Given the description of an element on the screen output the (x, y) to click on. 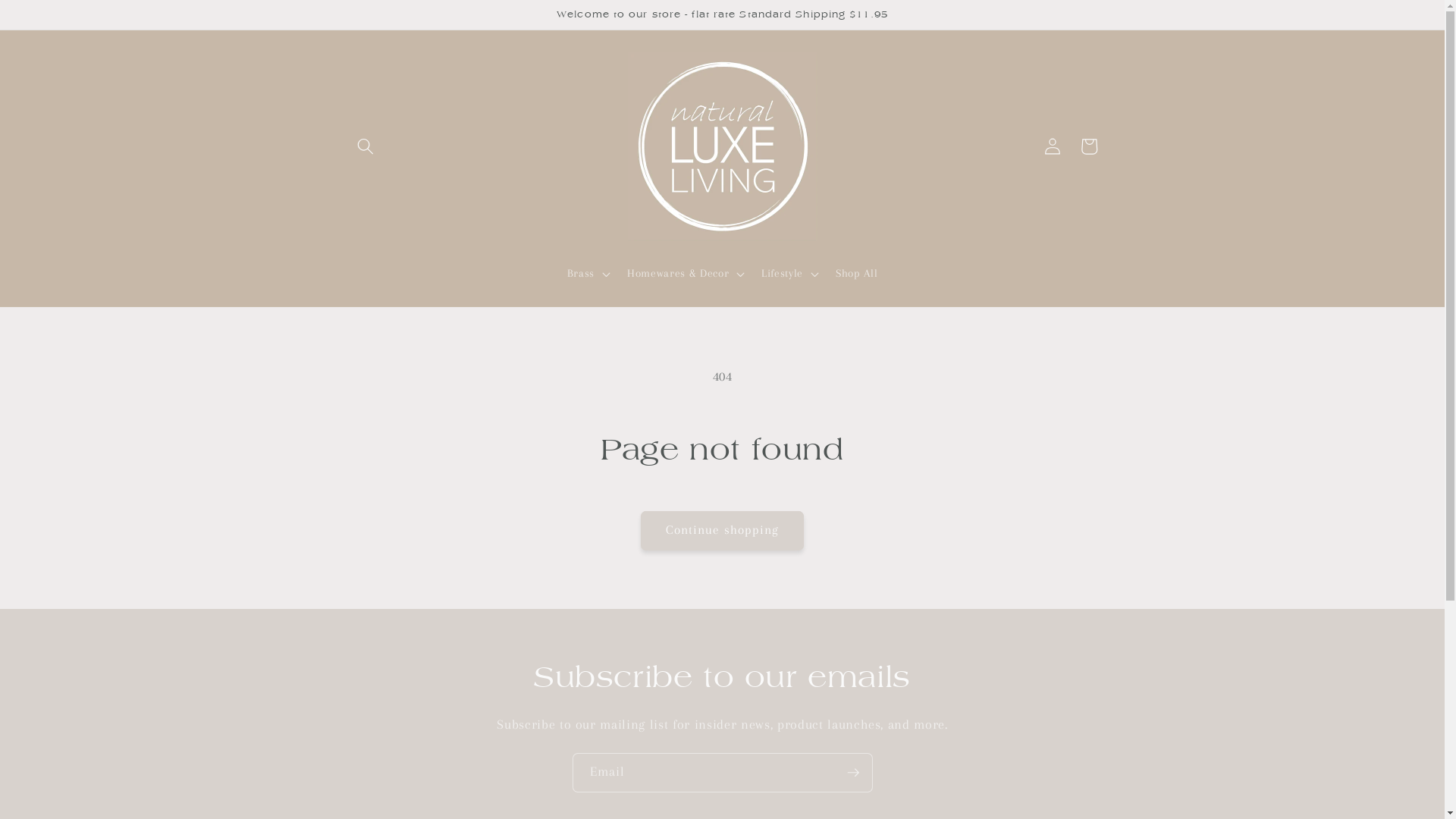
Continue shopping Element type: text (722, 530)
Cart Element type: text (1088, 146)
Shop All Element type: text (856, 273)
Log in Element type: text (1052, 146)
